Given the description of an element on the screen output the (x, y) to click on. 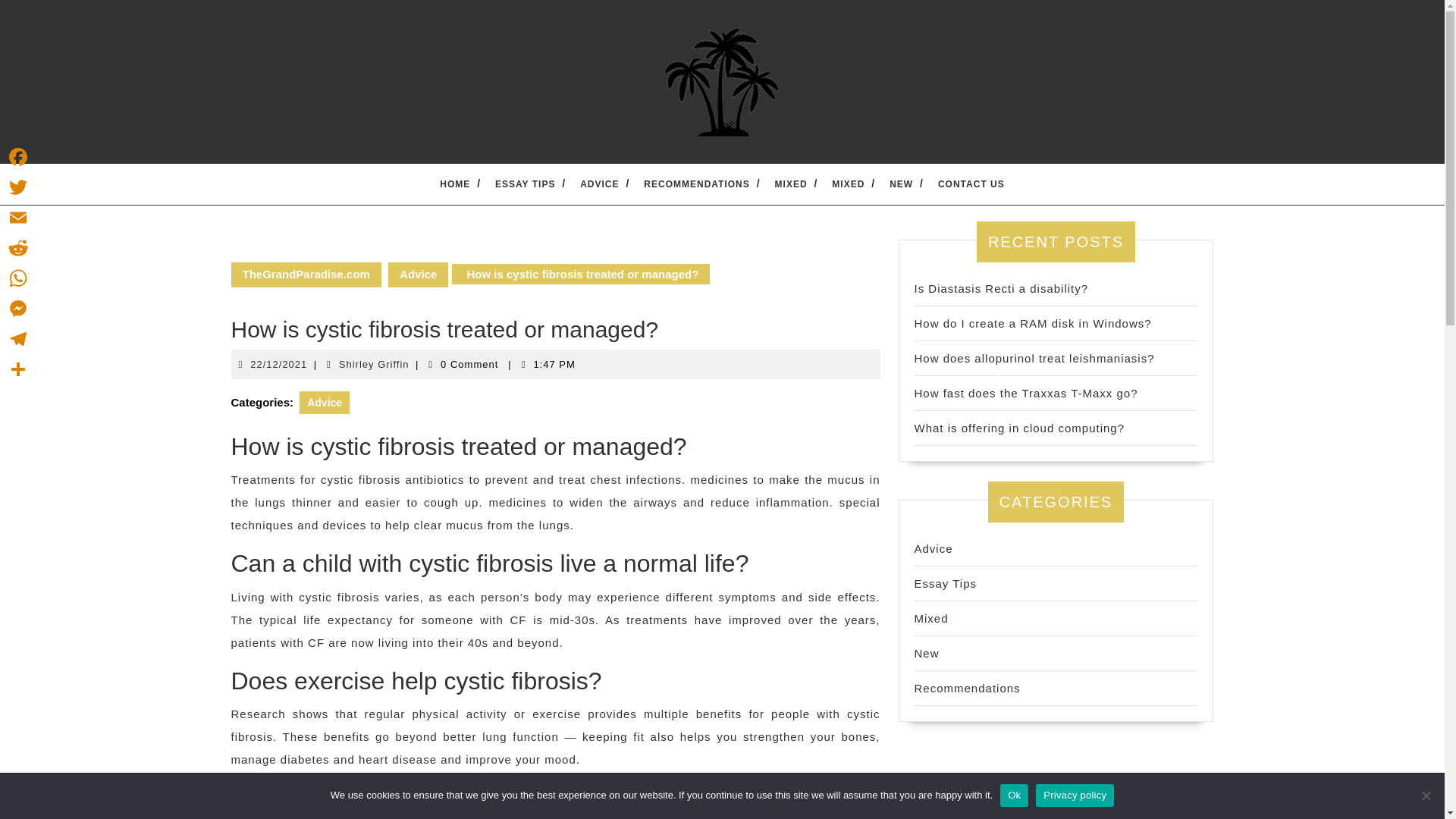
How does allopurinol treat leishmaniasis? (1034, 358)
Email (17, 217)
Advice (933, 548)
TheGrandParadise.com (305, 274)
Twitter (17, 186)
MIXED (790, 183)
What is offering in cloud computing? (1019, 427)
How fast does the Traxxas T-Maxx go? (1026, 392)
Advice (324, 402)
Recommendations (967, 687)
Is Diastasis Recti a disability? (1001, 287)
Messenger (17, 308)
New (926, 653)
Telegram (17, 338)
ADVICE (599, 183)
